Given the description of an element on the screen output the (x, y) to click on. 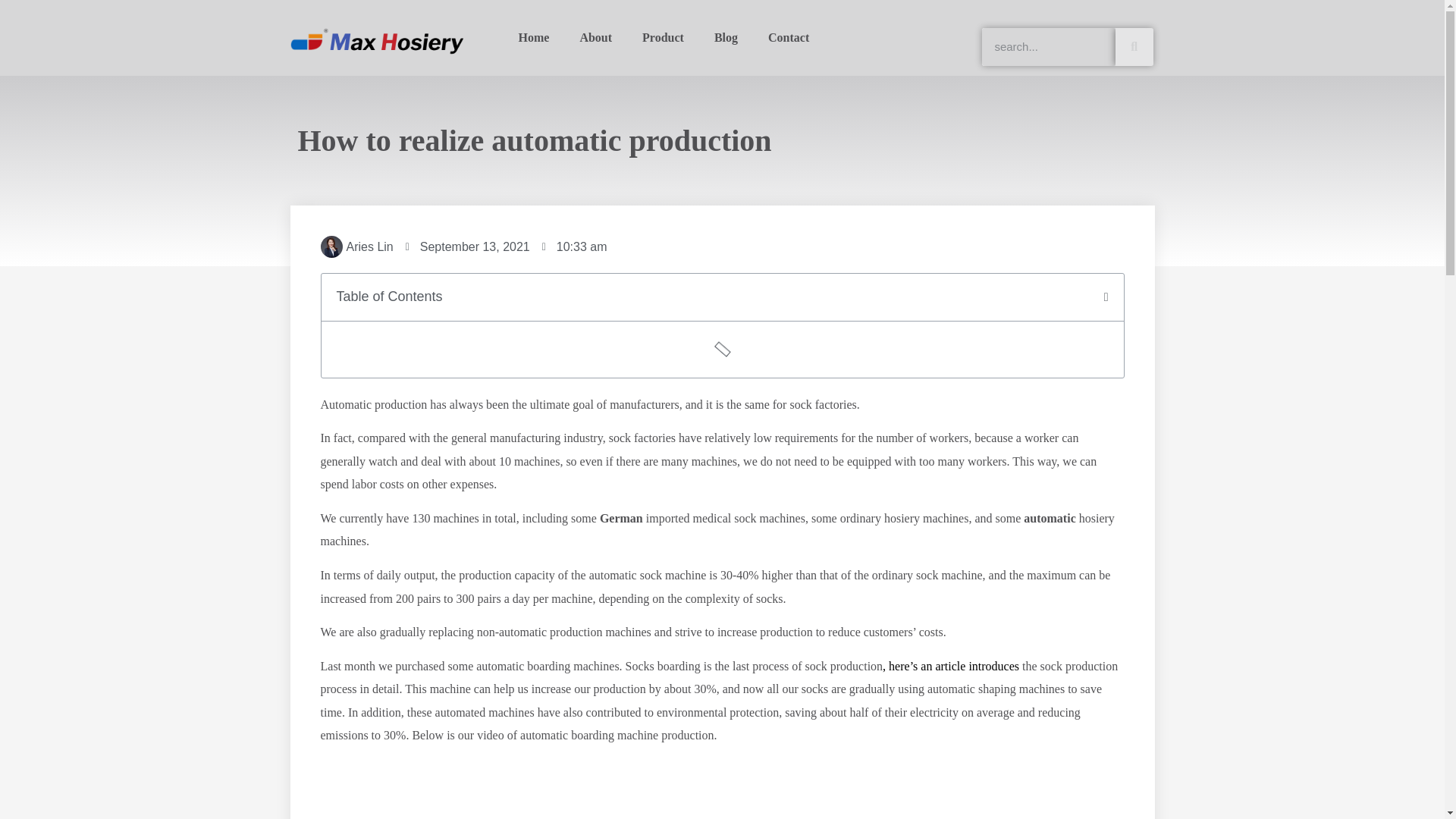
Product (662, 38)
Contact (788, 38)
Automatic boarding machine max hosiery for compression socks (722, 788)
